Given the description of an element on the screen output the (x, y) to click on. 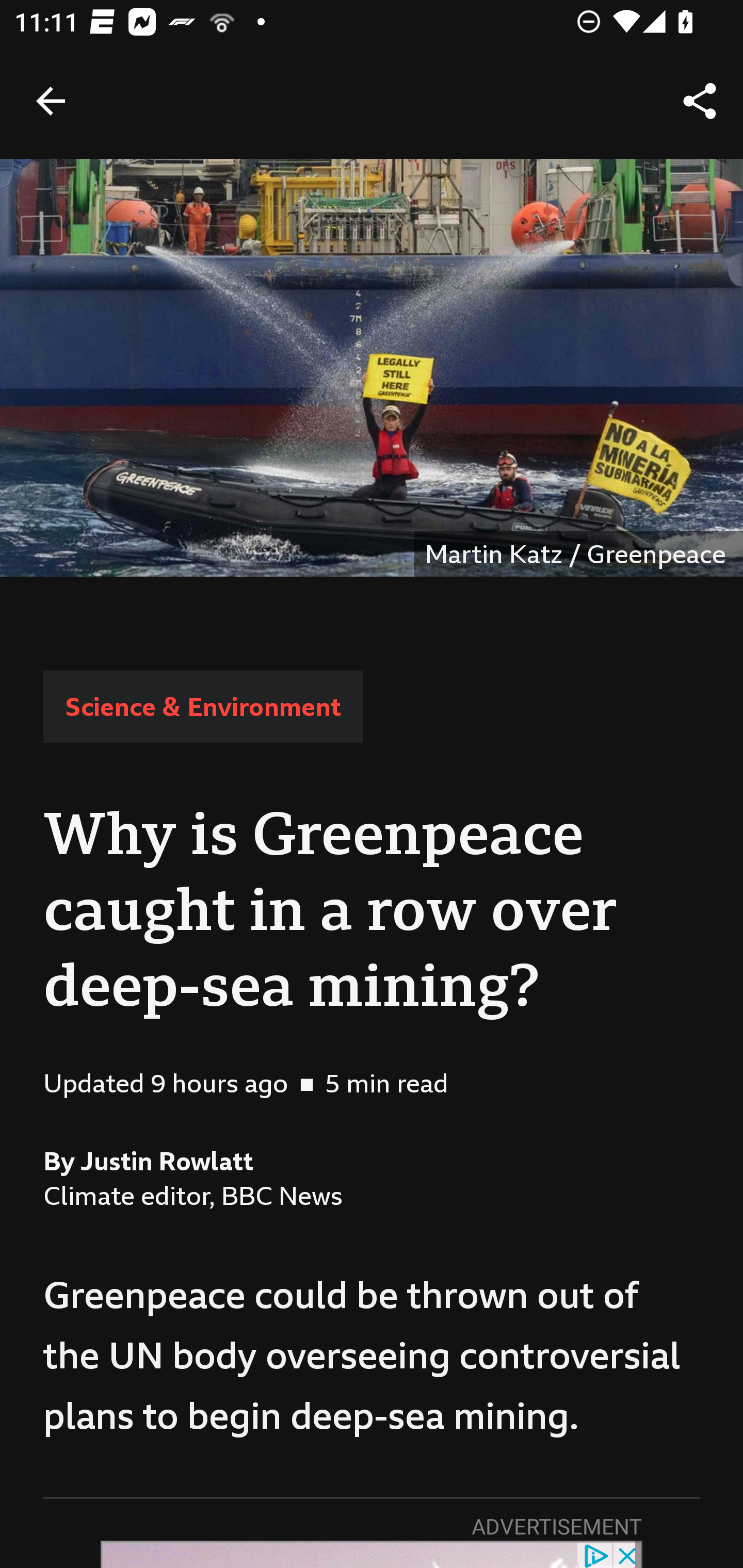
Back (50, 101)
Share (699, 101)
Science & Environment (202, 706)
privacy_small (595, 1554)
close_button (627, 1554)
